Given the description of an element on the screen output the (x, y) to click on. 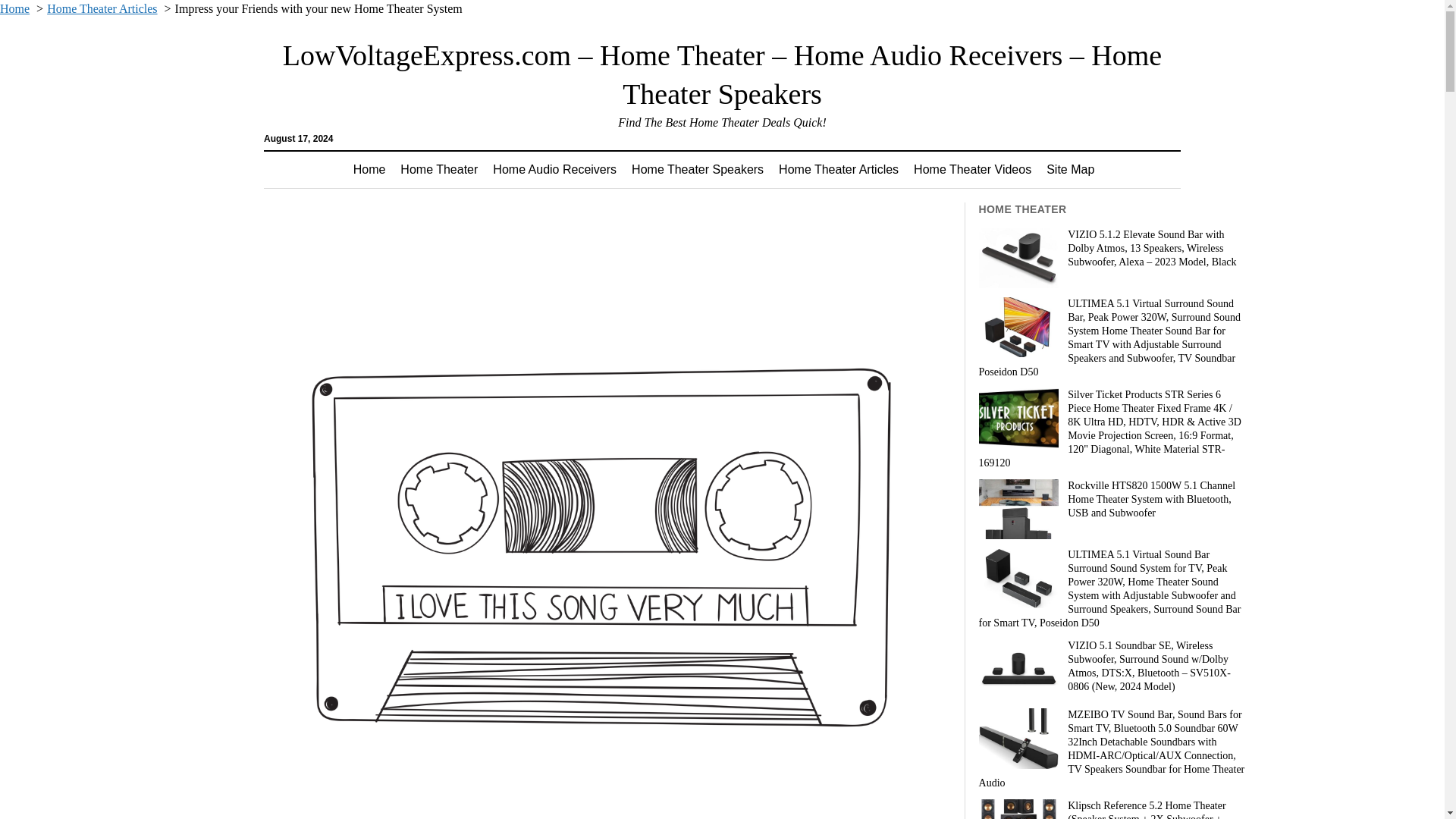
Home Theater (438, 169)
Home Theater Articles (101, 8)
Site Map (1069, 169)
Home Theater Speakers (698, 169)
Home Theater Articles (838, 169)
Home (368, 169)
Home (14, 8)
Home Theater Videos (972, 169)
Home Audio Receivers (554, 169)
